Given the description of an element on the screen output the (x, y) to click on. 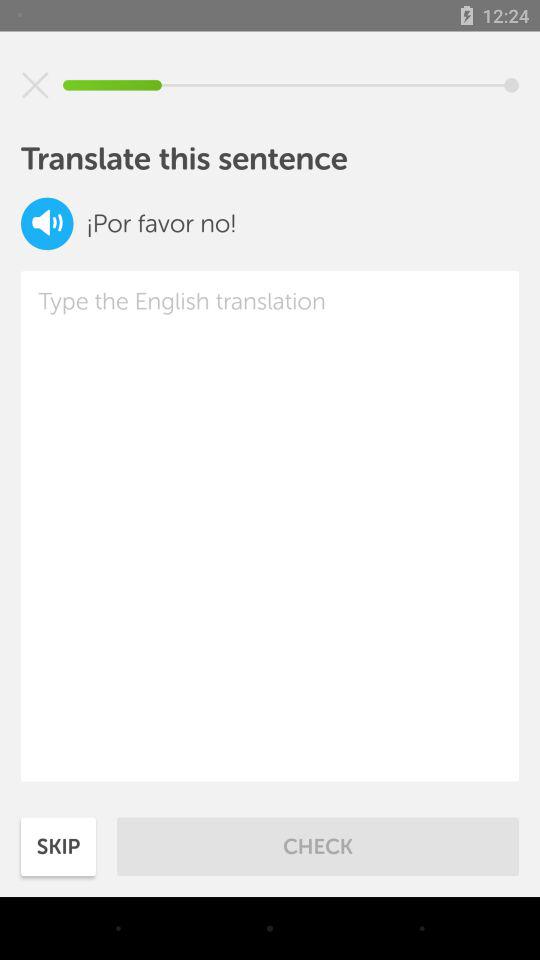
choose the icon below translate this sentence (47, 223)
